Given the description of an element on the screen output the (x, y) to click on. 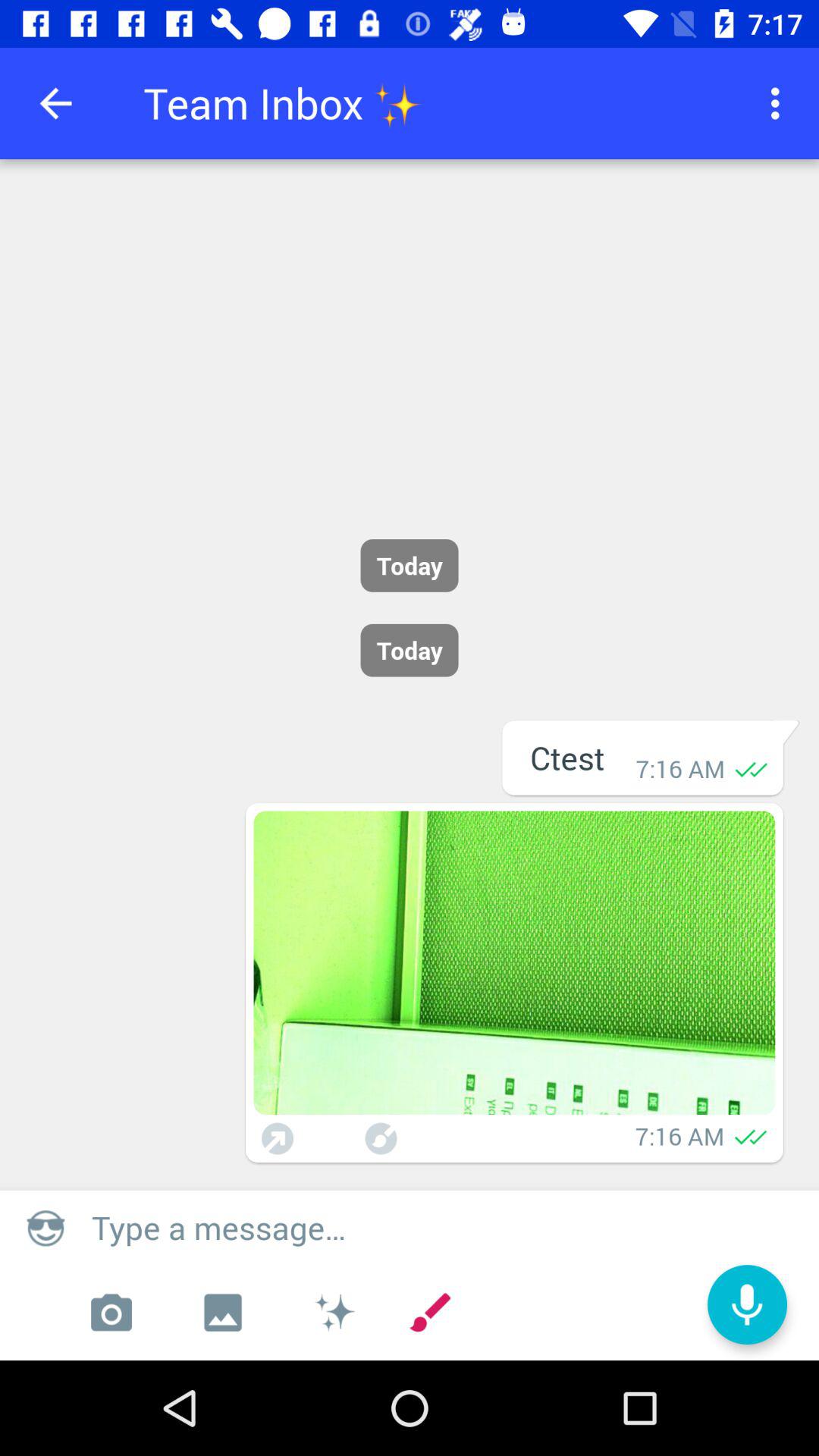
expand picture (514, 962)
